Given the description of an element on the screen output the (x, y) to click on. 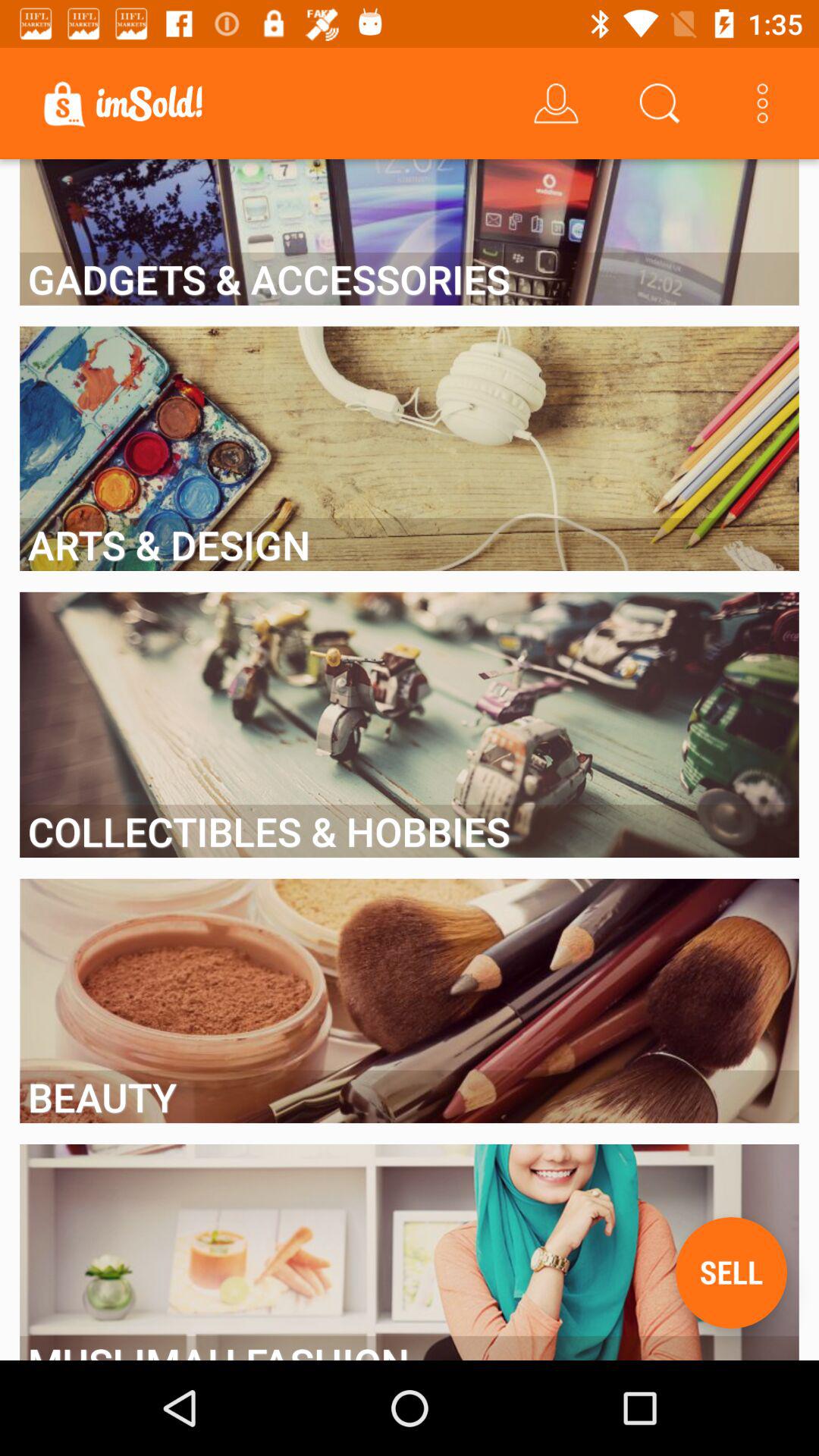
tap item at the bottom right corner (731, 1272)
